Given the description of an element on the screen output the (x, y) to click on. 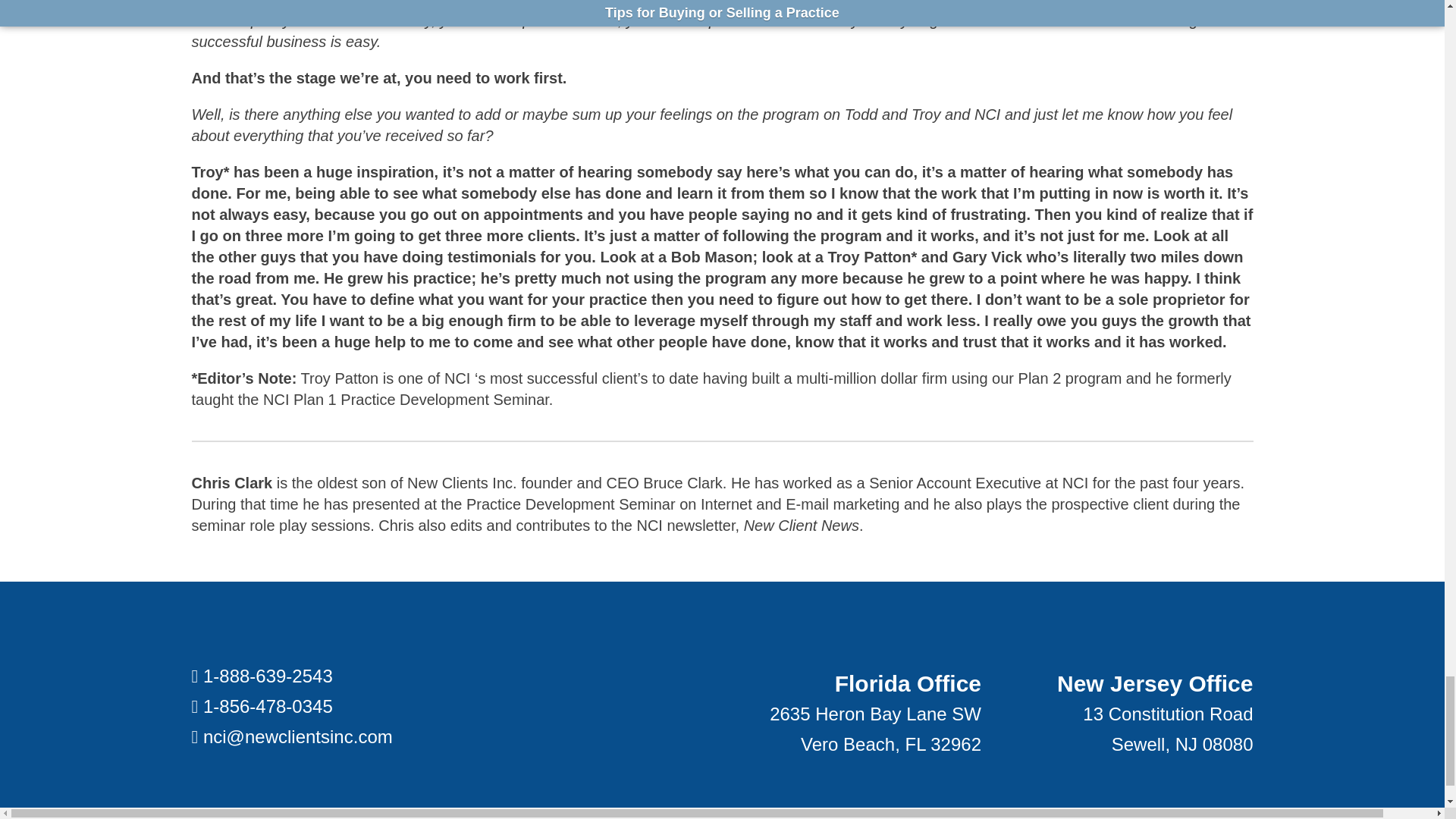
1-856-478-0345 (268, 648)
1-888-639-2543 (268, 617)
Privacy Policy (686, 781)
